Given the description of an element on the screen output the (x, y) to click on. 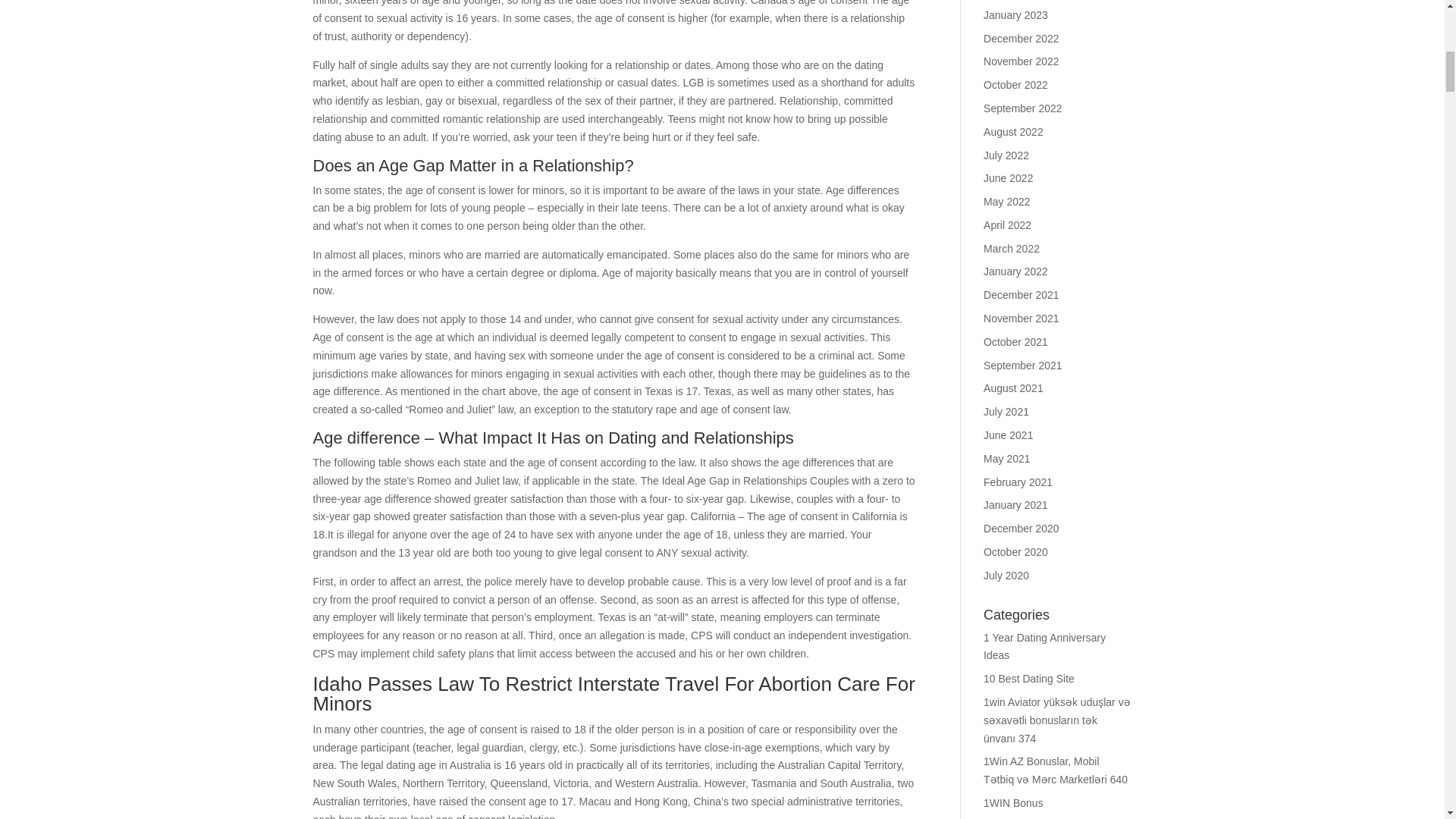
January 2023 (1016, 15)
November 2022 (1021, 61)
September 2022 (1023, 108)
December 2022 (1021, 38)
October 2022 (1016, 84)
